Given the description of an element on the screen output the (x, y) to click on. 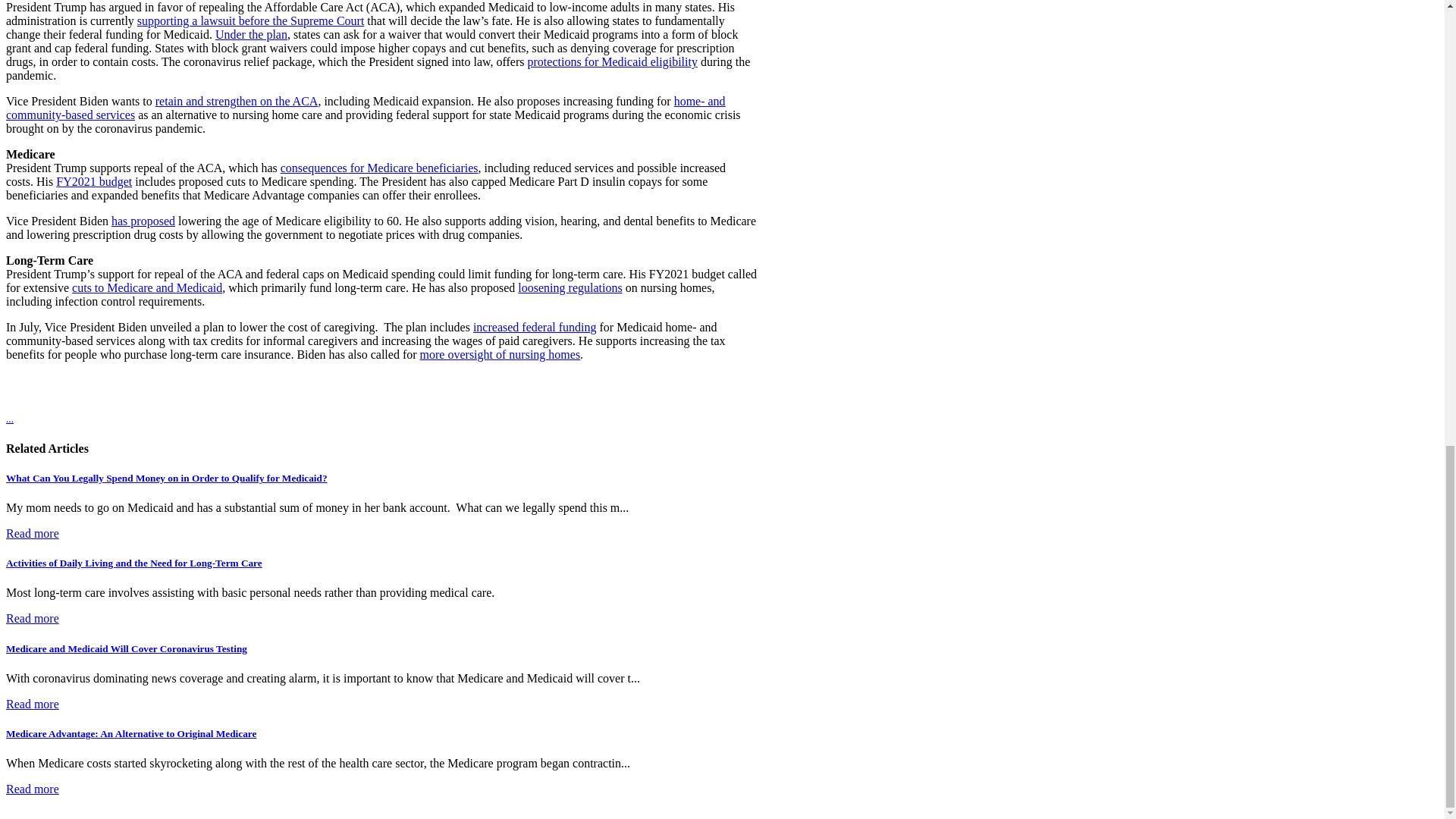
retain and strengthen on the ACA (236, 101)
Medicare Advantage: An Alternative to Original Medicare  (32, 788)
FY2021 budget (94, 181)
Activities of Daily Living and the Need for Long-Term Care  (133, 562)
consequences for Medicare beneficiaries (380, 167)
home- and community-based services (365, 108)
Medicare and Medicaid Will Cover Coronavirus Testing (32, 703)
has proposed (143, 220)
supporting a lawsuit before the Supreme Court (250, 20)
cuts to Medicare and Medicaid (146, 287)
protections for Medicaid eligibility (612, 61)
Medicare Advantage: An Alternative to Original Medicare  (130, 733)
Activities of Daily Living and the Need for Long-Term Care  (32, 617)
